Given the description of an element on the screen output the (x, y) to click on. 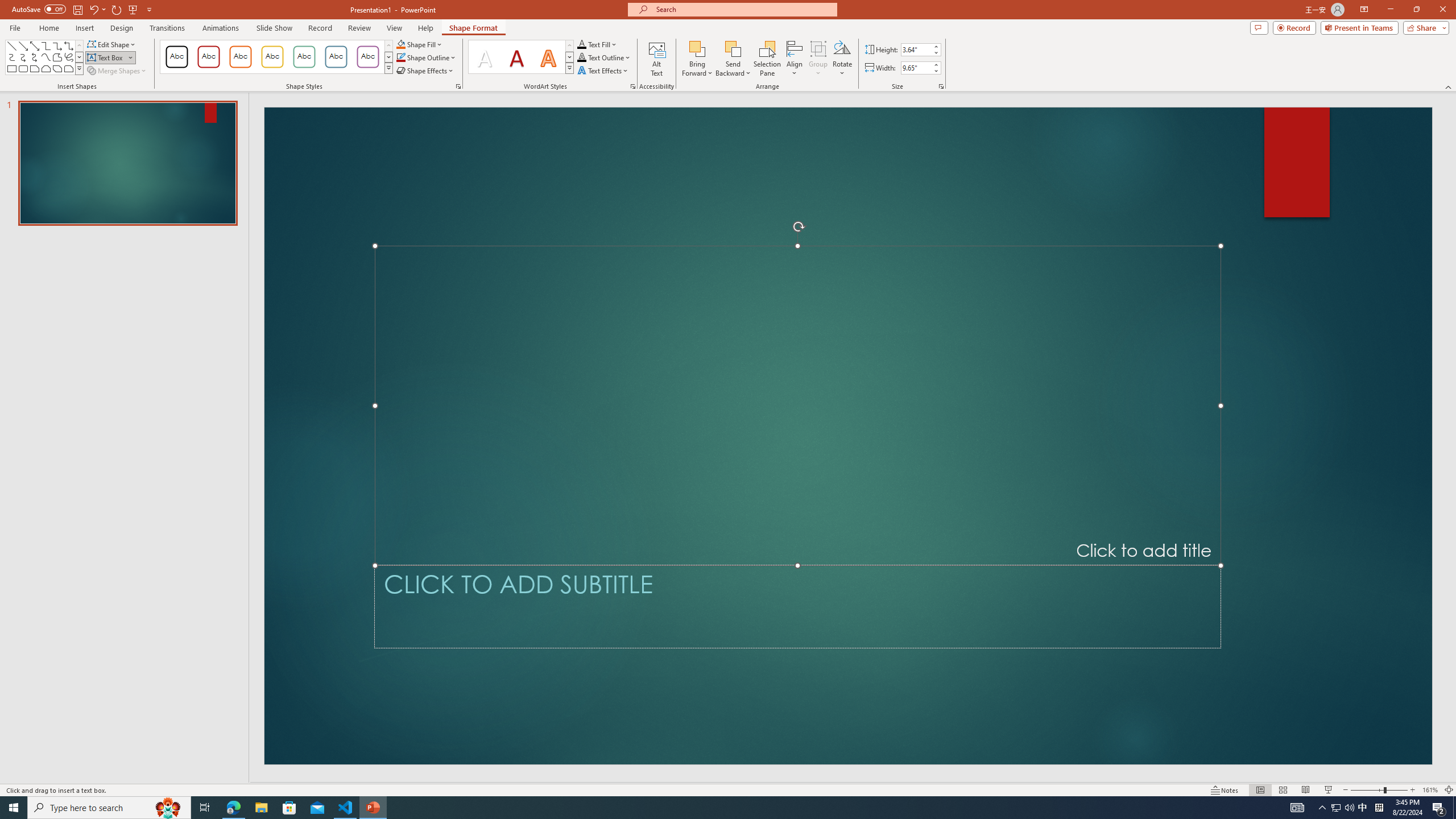
Rectangle: Diagonal Corners Snipped (57, 68)
Rotate (841, 58)
Connector: Curved Double-Arrow (34, 57)
Colored Outline - Purple, Accent 6 (368, 56)
